Given the description of an element on the screen output the (x, y) to click on. 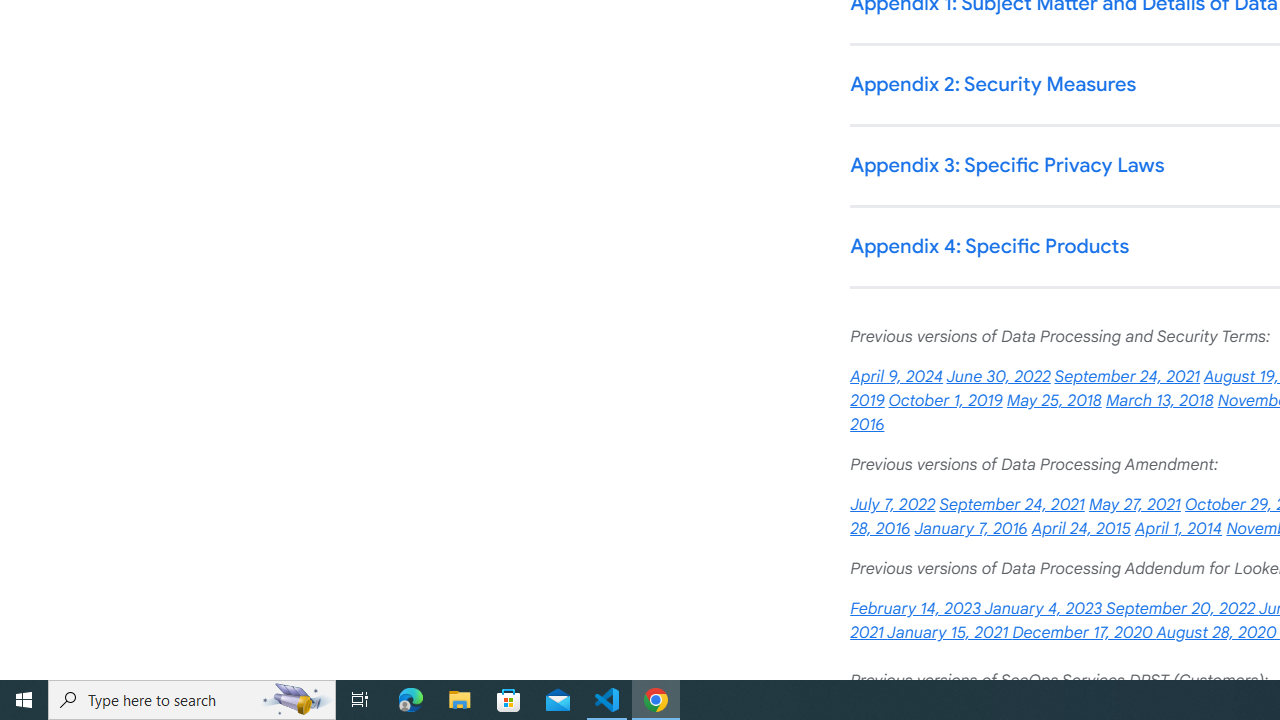
April 1, 2014 (1178, 529)
July 7, 2022 (892, 504)
June 30, 2022 (997, 377)
April 24, 2015 (1080, 529)
January 7, 2016 (970, 529)
May 27, 2021 (1134, 504)
September 24, 2021 (1012, 504)
April 9, 2024 (896, 377)
March 13, 2018 (1158, 400)
May 25, 2018 (1054, 400)
